Given the description of an element on the screen output the (x, y) to click on. 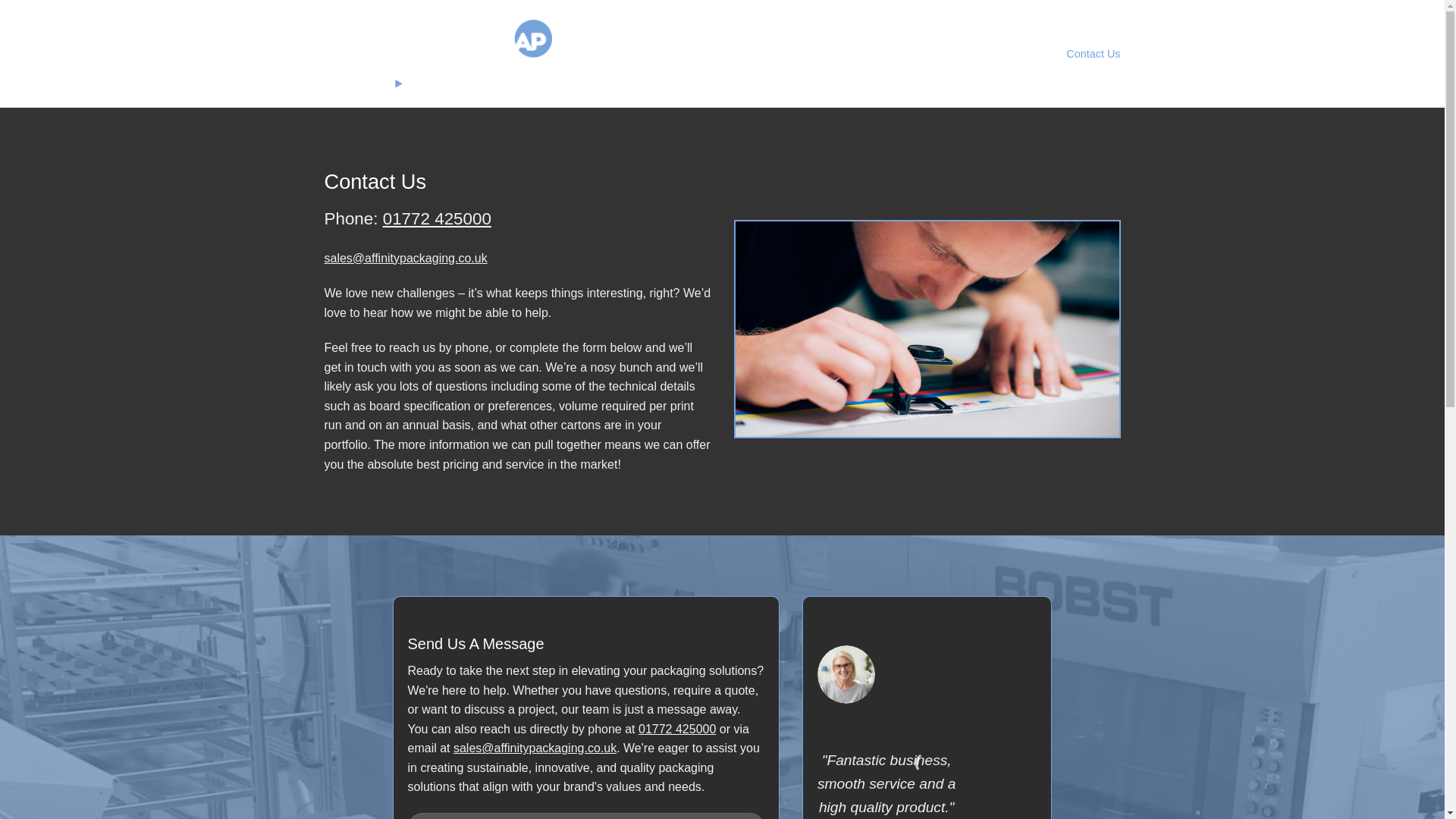
01772 425000 (677, 728)
What We Do (787, 53)
Home (725, 53)
01772 425000 (437, 218)
Digital Printing (1013, 53)
Affinity Packaging - Your Sustainable Packaging Partner (437, 53)
Contact Us (1092, 53)
Sustainability (930, 53)
About Us (857, 53)
